Given the description of an element on the screen output the (x, y) to click on. 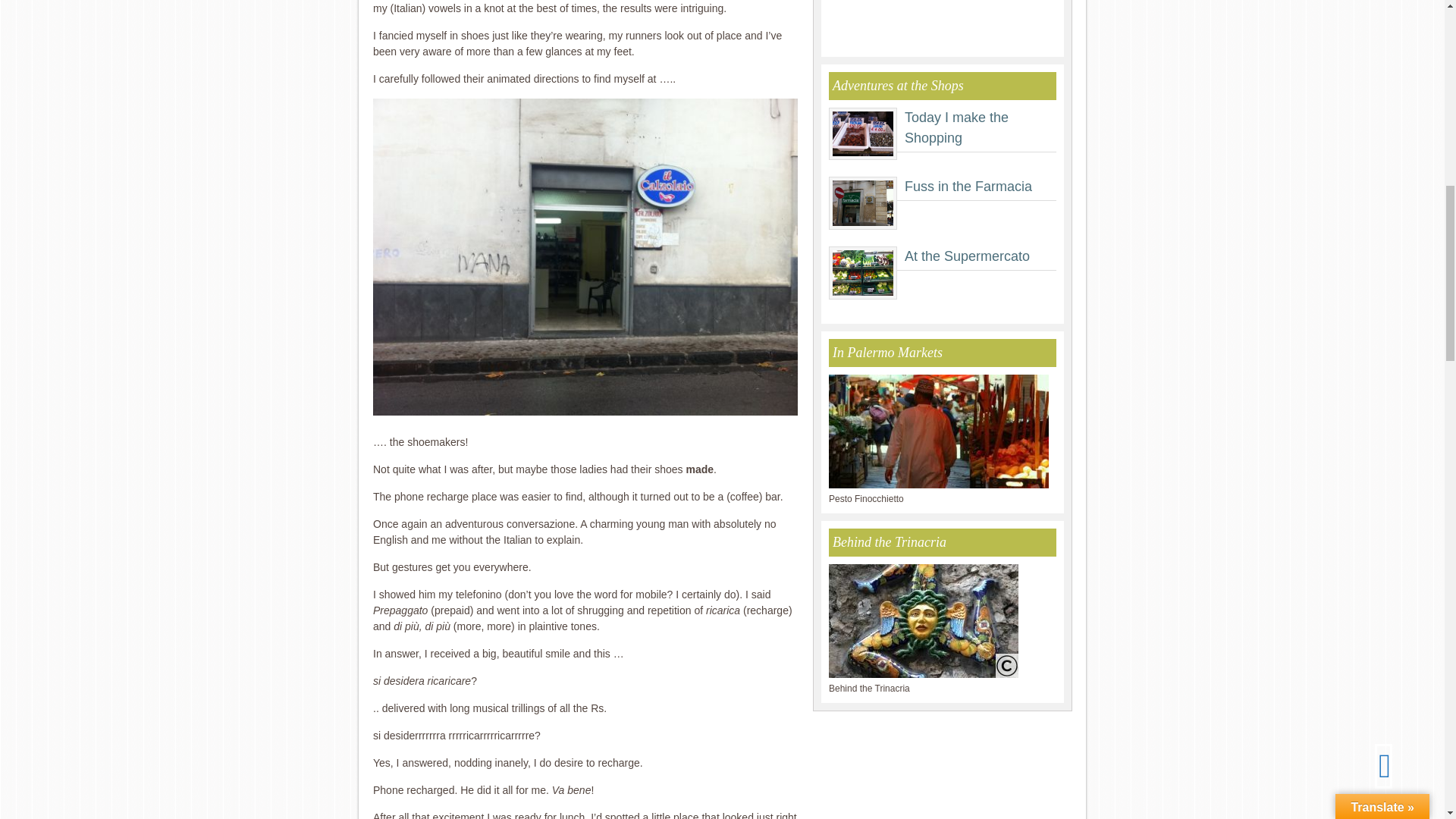
Behind the Trinacria (922, 674)
At the Supermercato (966, 255)
In Palermo Markets (938, 484)
Fuss in the Farmacia (968, 186)
Today I make the Shopping (956, 127)
